Given the description of an element on the screen output the (x, y) to click on. 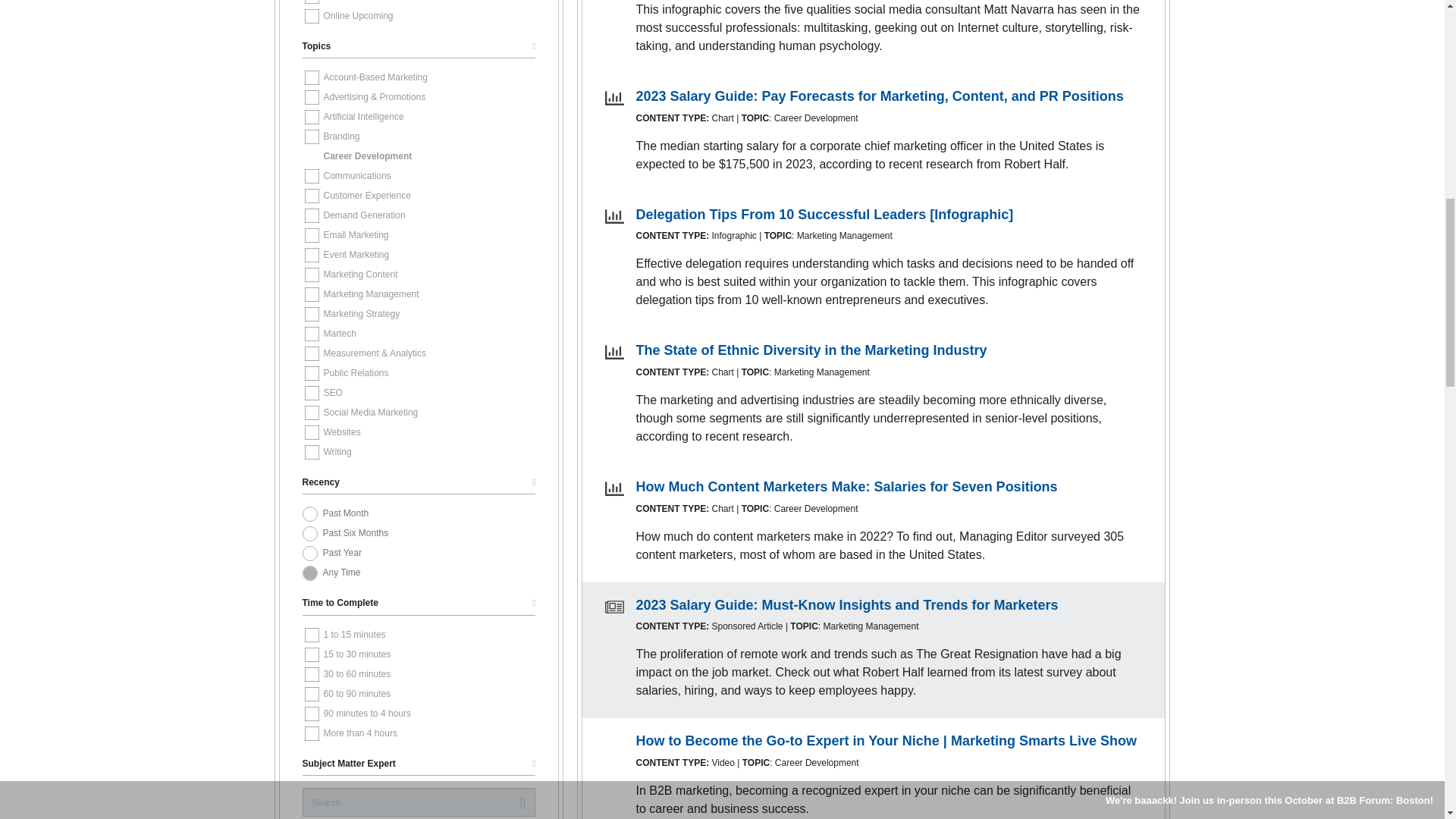
0 (309, 572)
30 (309, 513)
180 (309, 533)
365 (309, 553)
